Given the description of an element on the screen output the (x, y) to click on. 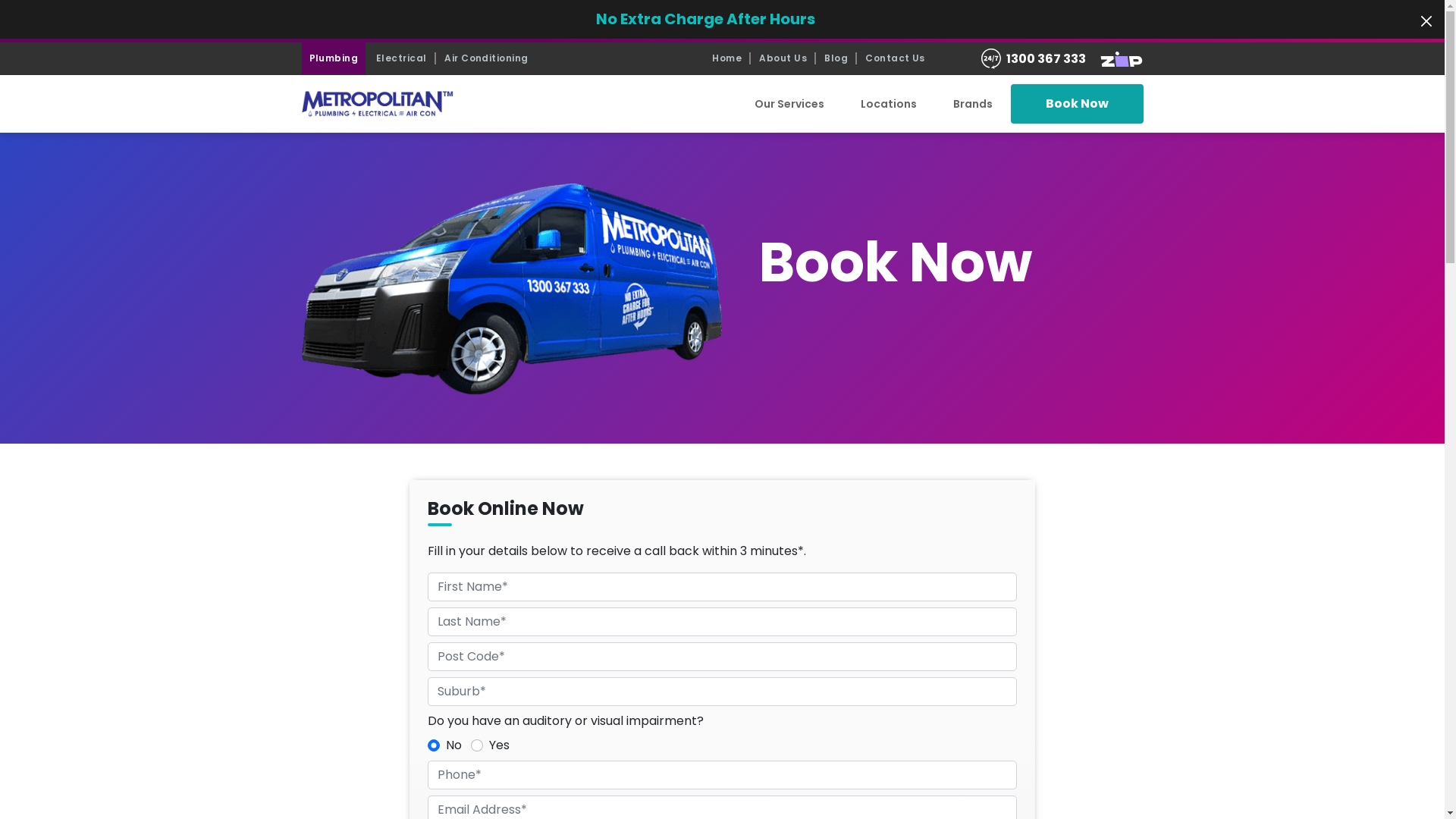
Home Element type: text (726, 58)
Blog Element type: text (835, 58)
1300 367 333 Element type: text (1045, 58)
Air Conditioning Element type: text (486, 58)
Contact Us Element type: text (894, 58)
No Extra Charge After Hours Element type: text (705, 18)
About Us Element type: text (782, 58)
Locations Element type: text (887, 104)
Electrical Element type: text (401, 58)
Brands Element type: text (972, 104)
metropolitan plumbers available now Element type: hover (511, 287)
Book Now Element type: text (1076, 103)
Plumbing Element type: text (333, 58)
Our Services Element type: text (788, 104)
